Given the description of an element on the screen output the (x, y) to click on. 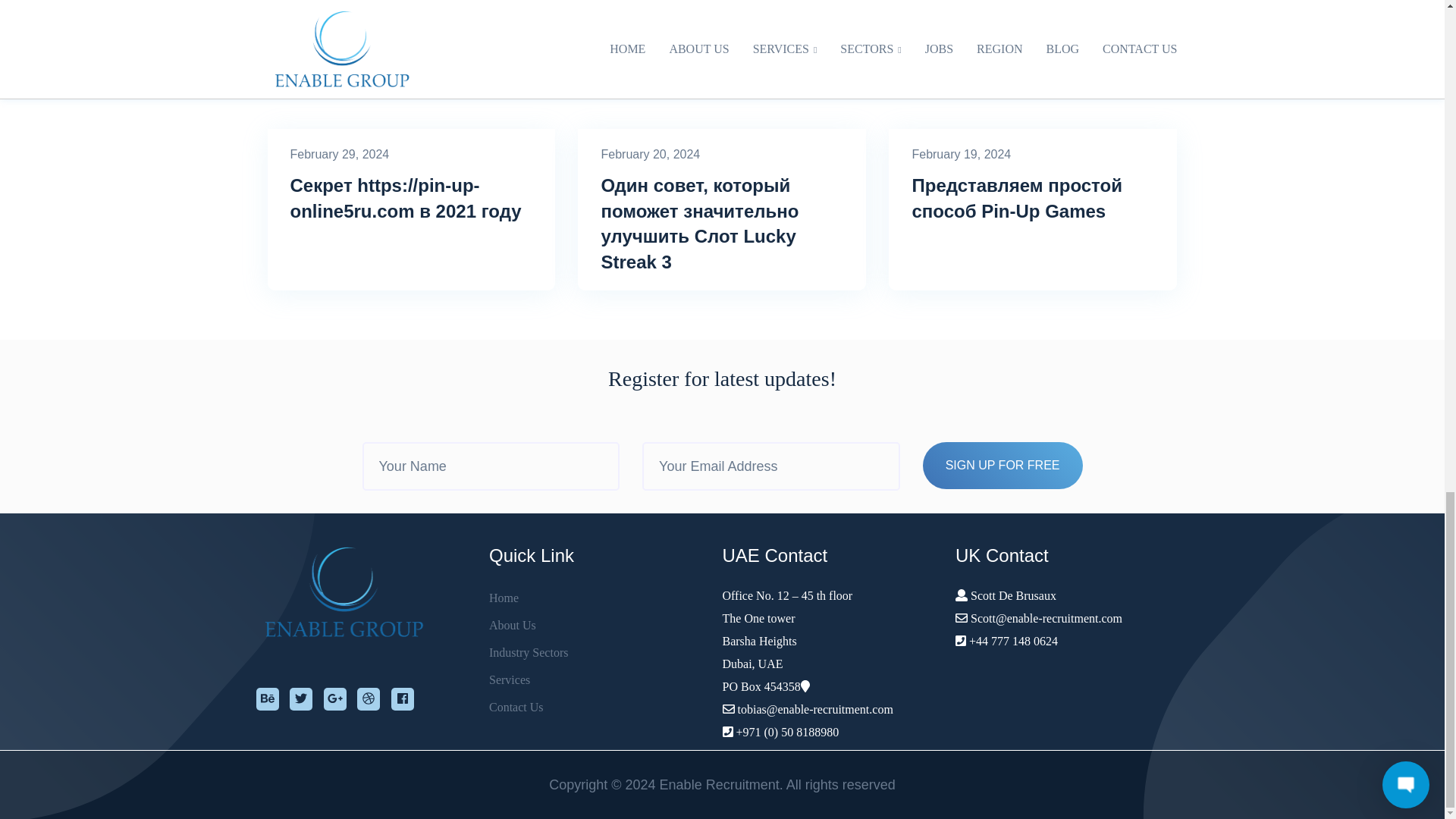
SIGN UP FOR FREE (1003, 465)
